Given the description of an element on the screen output the (x, y) to click on. 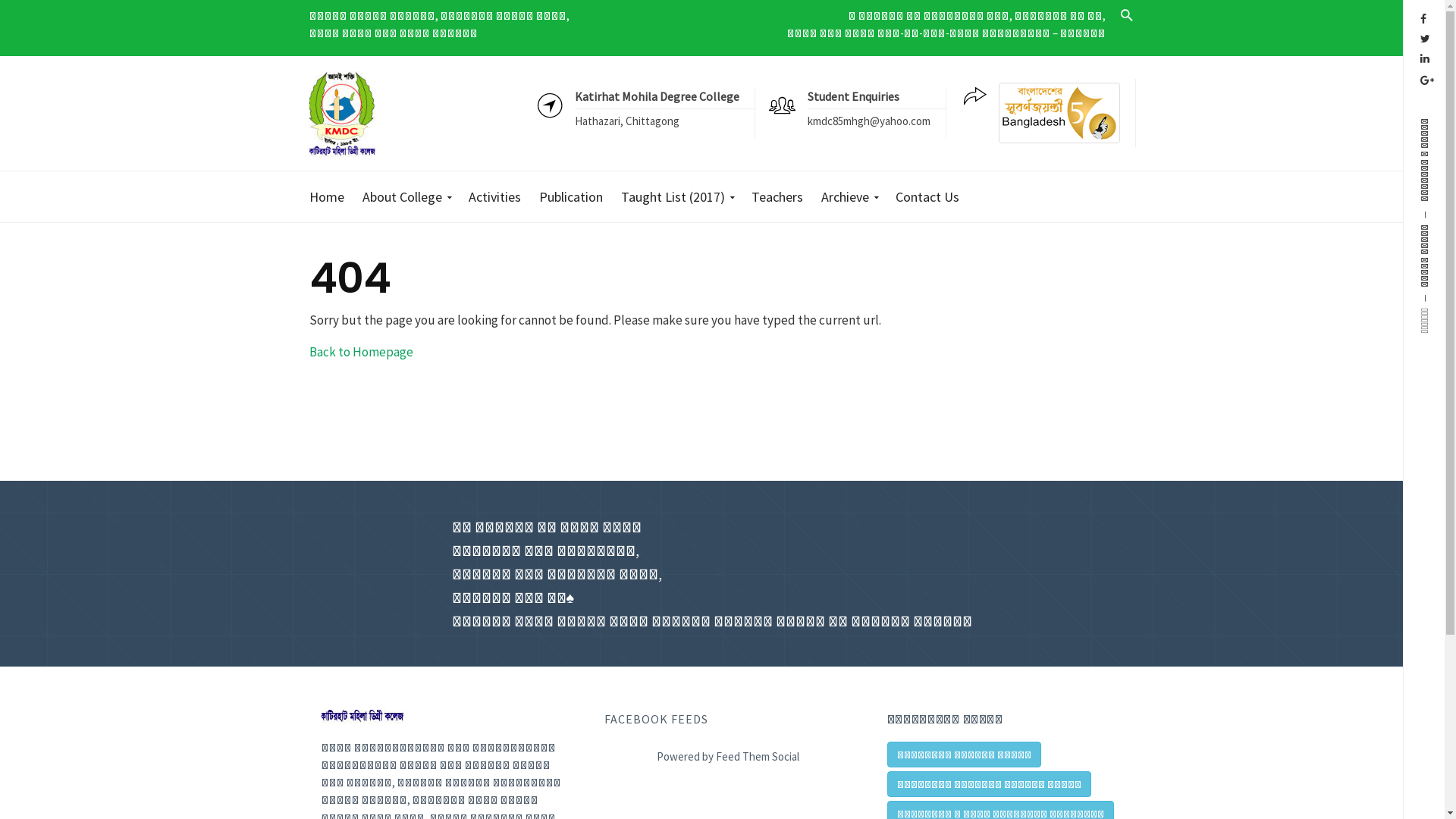
About College Element type: text (405, 196)
Contact Us Element type: text (927, 196)
Teachers Element type: text (776, 196)
Publication Element type: text (570, 196)
Powered by Feed Them Social Element type: text (728, 753)
Activities Element type: text (494, 196)
Archieve Element type: text (849, 196)
kmdc85mhgh@yahoo.com Element type: text (867, 121)
Taught List (2017) Element type: text (677, 196)
Back to Homepage Element type: text (361, 350)
Home Element type: text (331, 196)
